Given the description of an element on the screen output the (x, y) to click on. 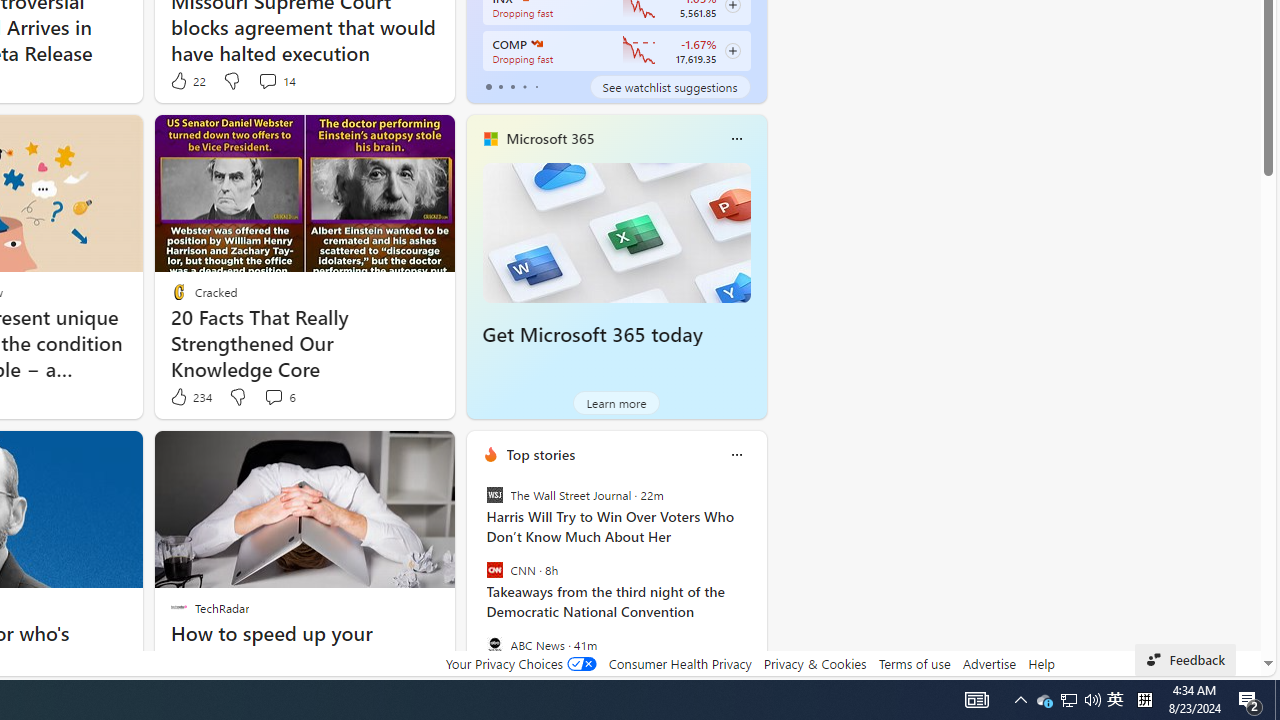
View comments 6 Comment (279, 397)
Help (1040, 663)
next (756, 583)
View comments 14 Comment (267, 80)
Learn more (616, 402)
See watchlist suggestions (669, 86)
Consumer Health Privacy (680, 663)
Class: follow-button  m (732, 51)
